Given the description of an element on the screen output the (x, y) to click on. 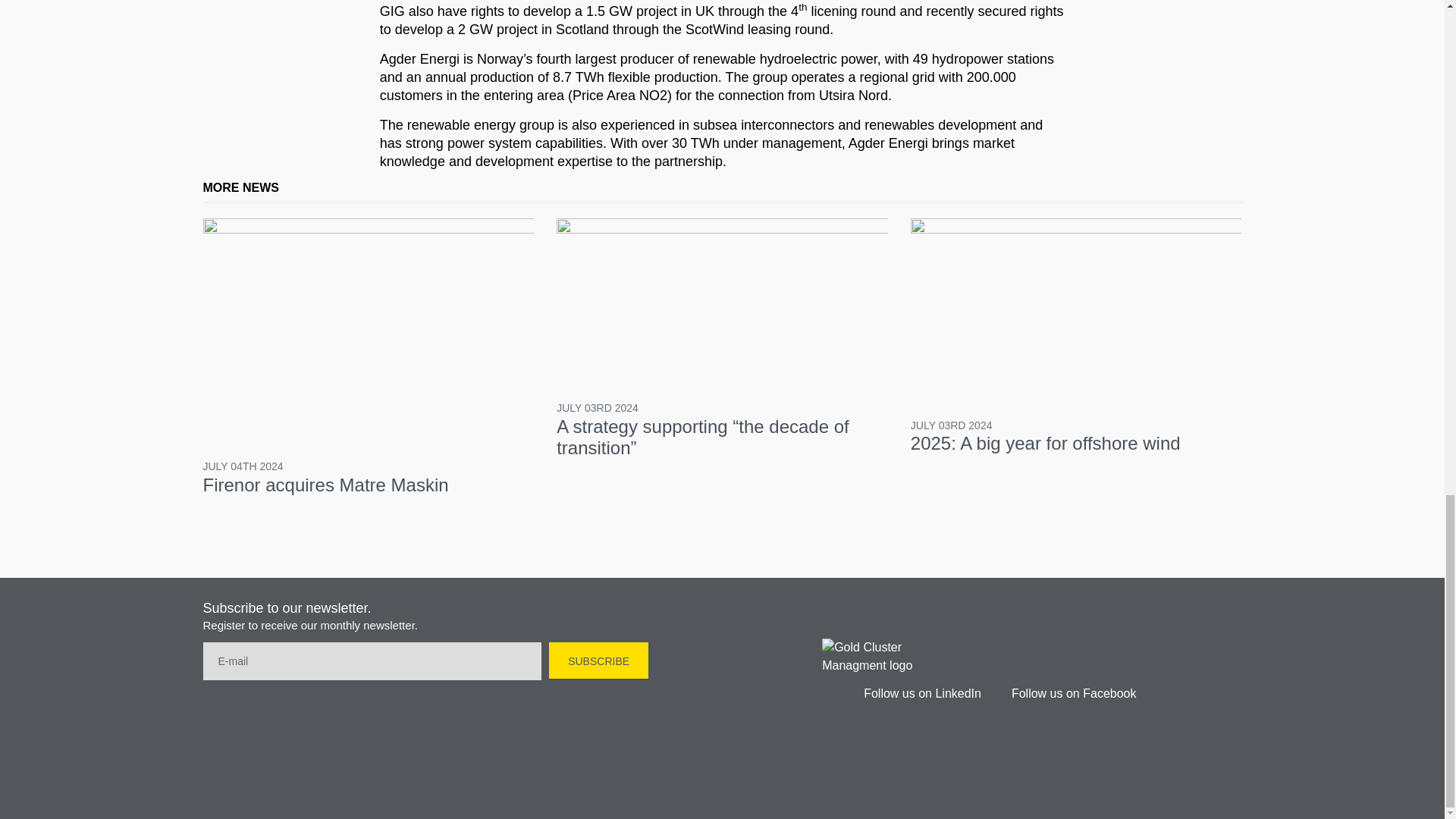
Subscribe (597, 660)
MORE NEWS (241, 187)
